Given the description of an element on the screen output the (x, y) to click on. 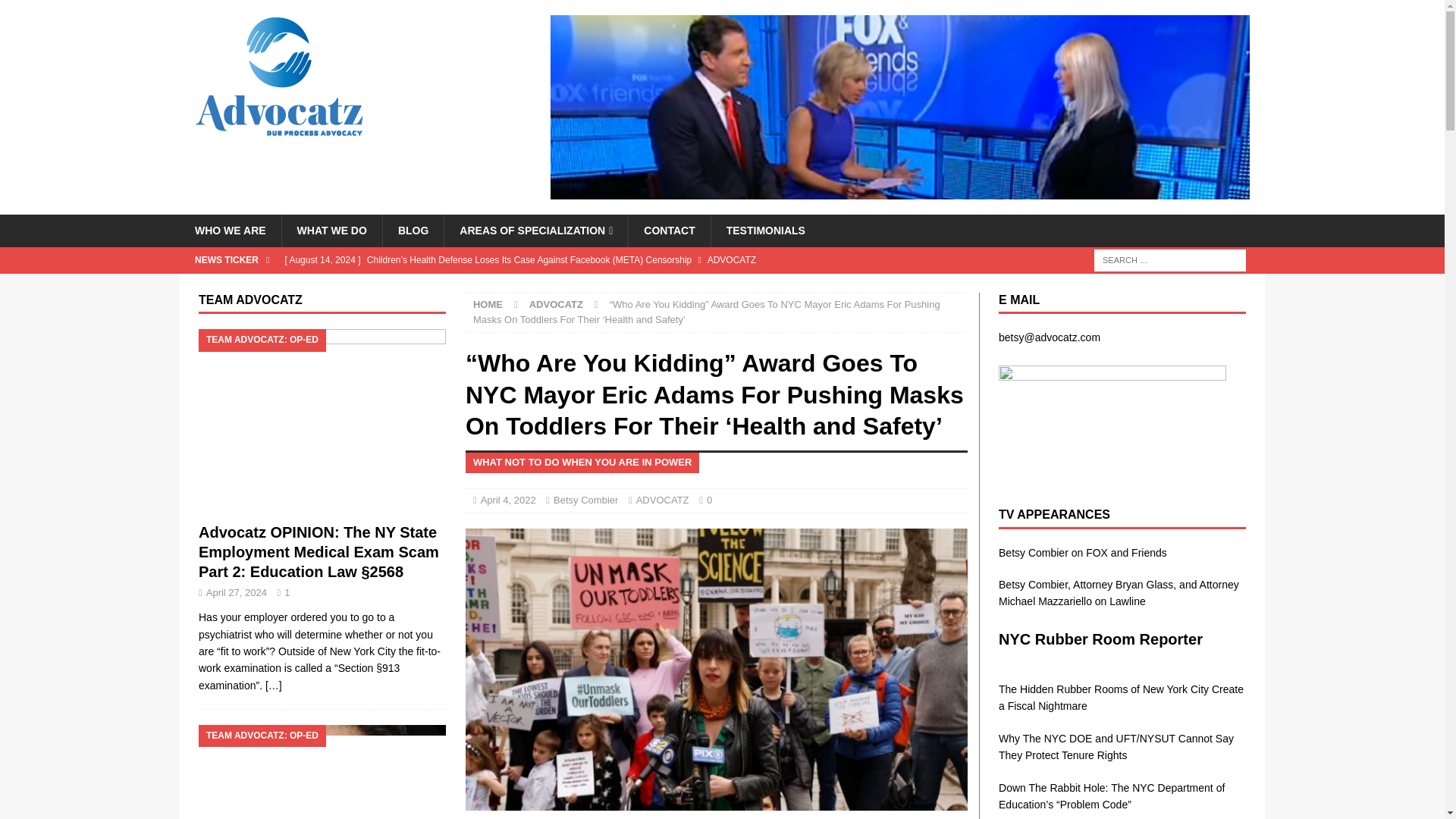
HOME (487, 304)
Whistleblower Case Against Merck Over MMR Vaccine Dismissed (581, 285)
CONTACT (668, 230)
BLOG (412, 230)
Search (56, 11)
WHO WE ARE (230, 230)
April 4, 2022 (507, 500)
ADVOCATZ (662, 500)
TESTIMONIALS (765, 230)
